Given the description of an element on the screen output the (x, y) to click on. 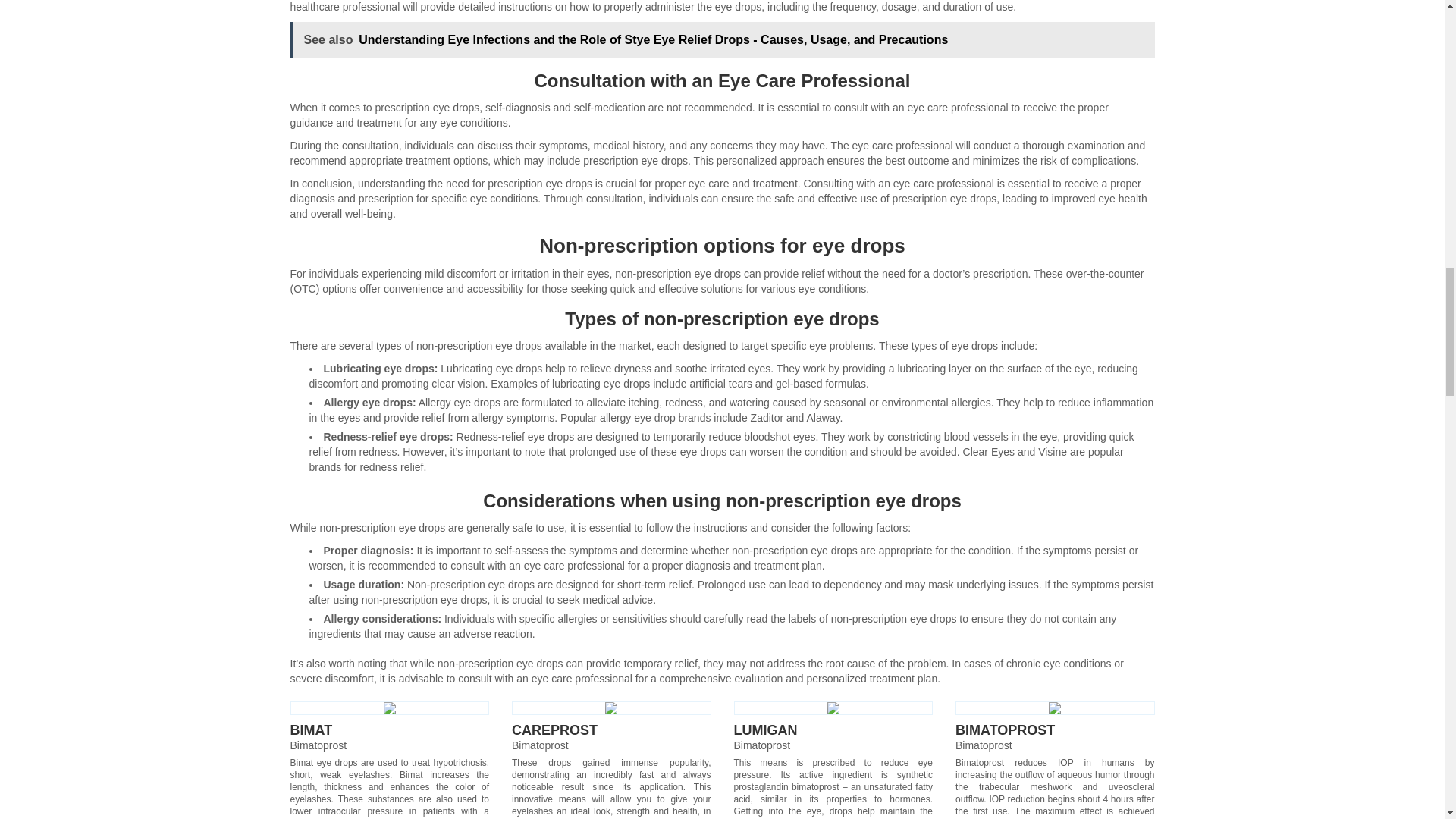
CAREPROST (554, 729)
BIMATOPROST (1004, 729)
Bimat (389, 707)
Careprost (554, 729)
Careprost (611, 707)
Lumigan (833, 707)
BIMAT (310, 729)
LUMIGAN (765, 729)
Bimat (310, 729)
